Given the description of an element on the screen output the (x, y) to click on. 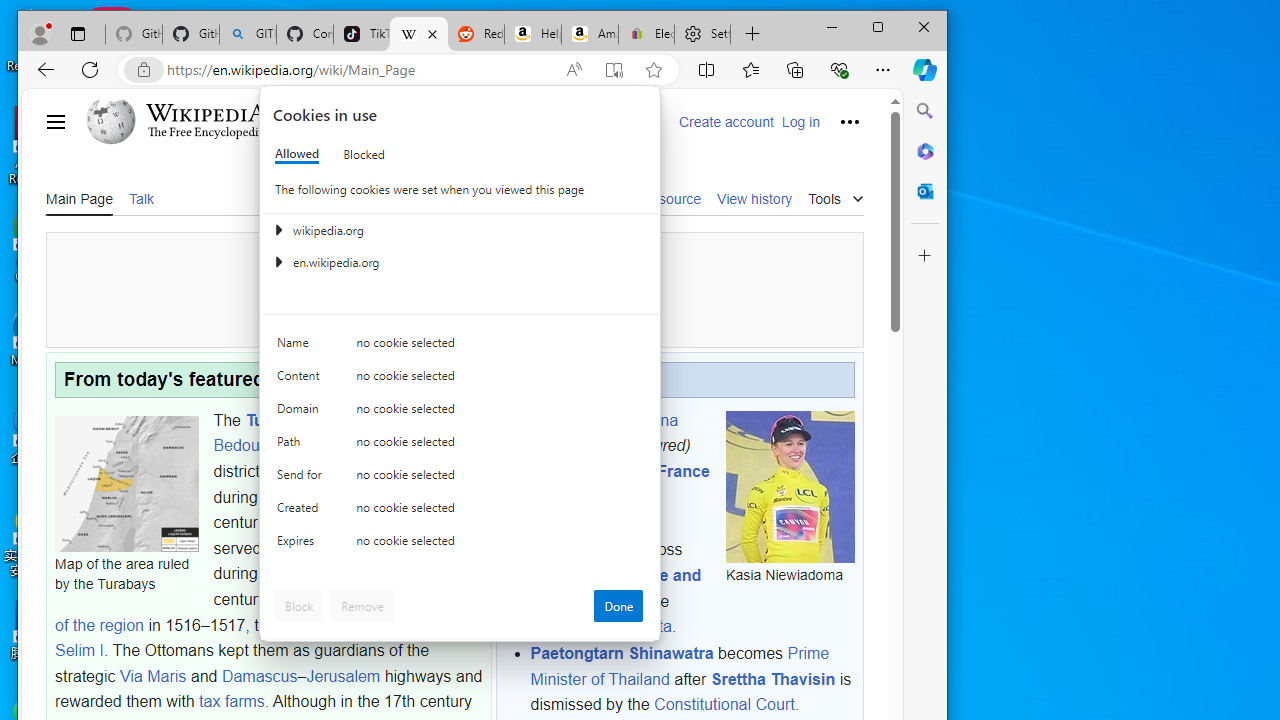
Expires (302, 544)
Block (299, 605)
Send for (302, 479)
Done (617, 605)
Remove (362, 605)
Blocked (363, 153)
Allowed (296, 153)
Path (302, 446)
Content (302, 380)
Created (302, 511)
Name (302, 346)
Domain (302, 413)
Class: c0153 c0157 (460, 545)
Class: c0153 c0157 c0154 (460, 347)
no cookie selected (500, 544)
